Given the description of an element on the screen output the (x, y) to click on. 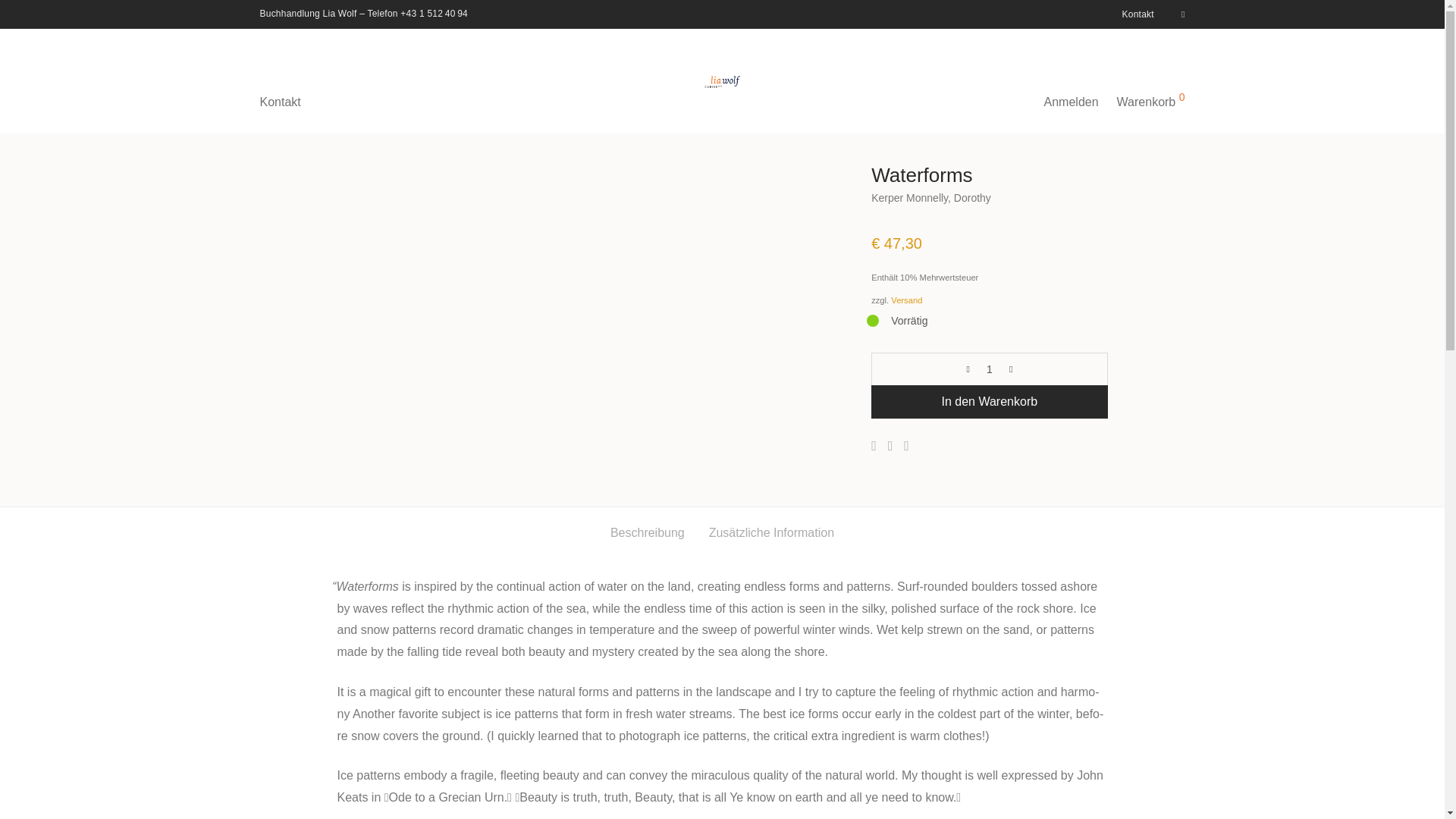
Beschreibung (647, 533)
Warenkorb 0 (1150, 80)
In den Warenkorb (988, 401)
Anmelden (1071, 80)
Fotografie (389, 117)
Buchhandlung Lia Wolf (307, 13)
Kontakt (1134, 13)
Versand (906, 299)
Webshop (281, 117)
